Given the description of an element on the screen output the (x, y) to click on. 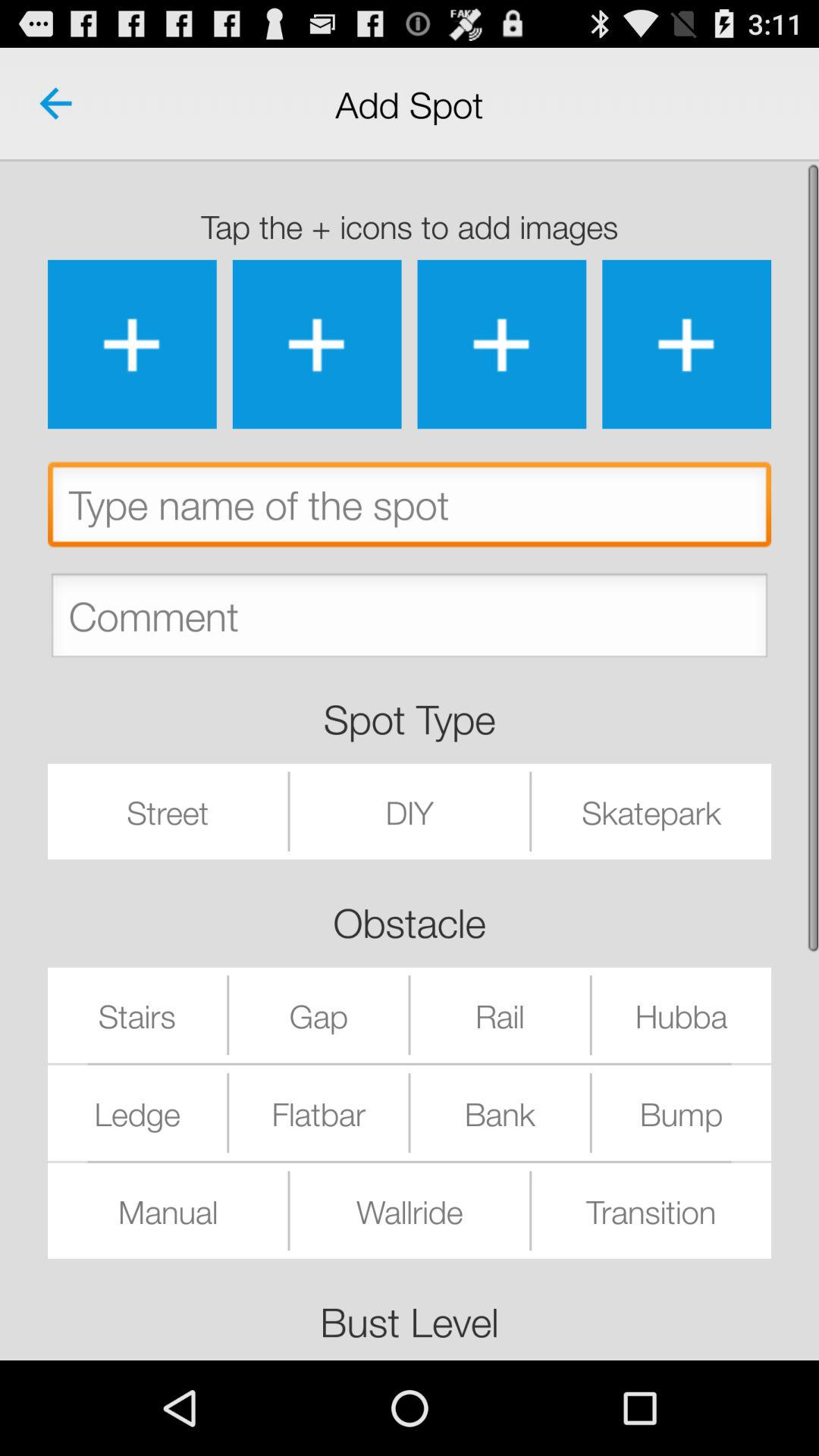
to add image (501, 343)
